Given the description of an element on the screen output the (x, y) to click on. 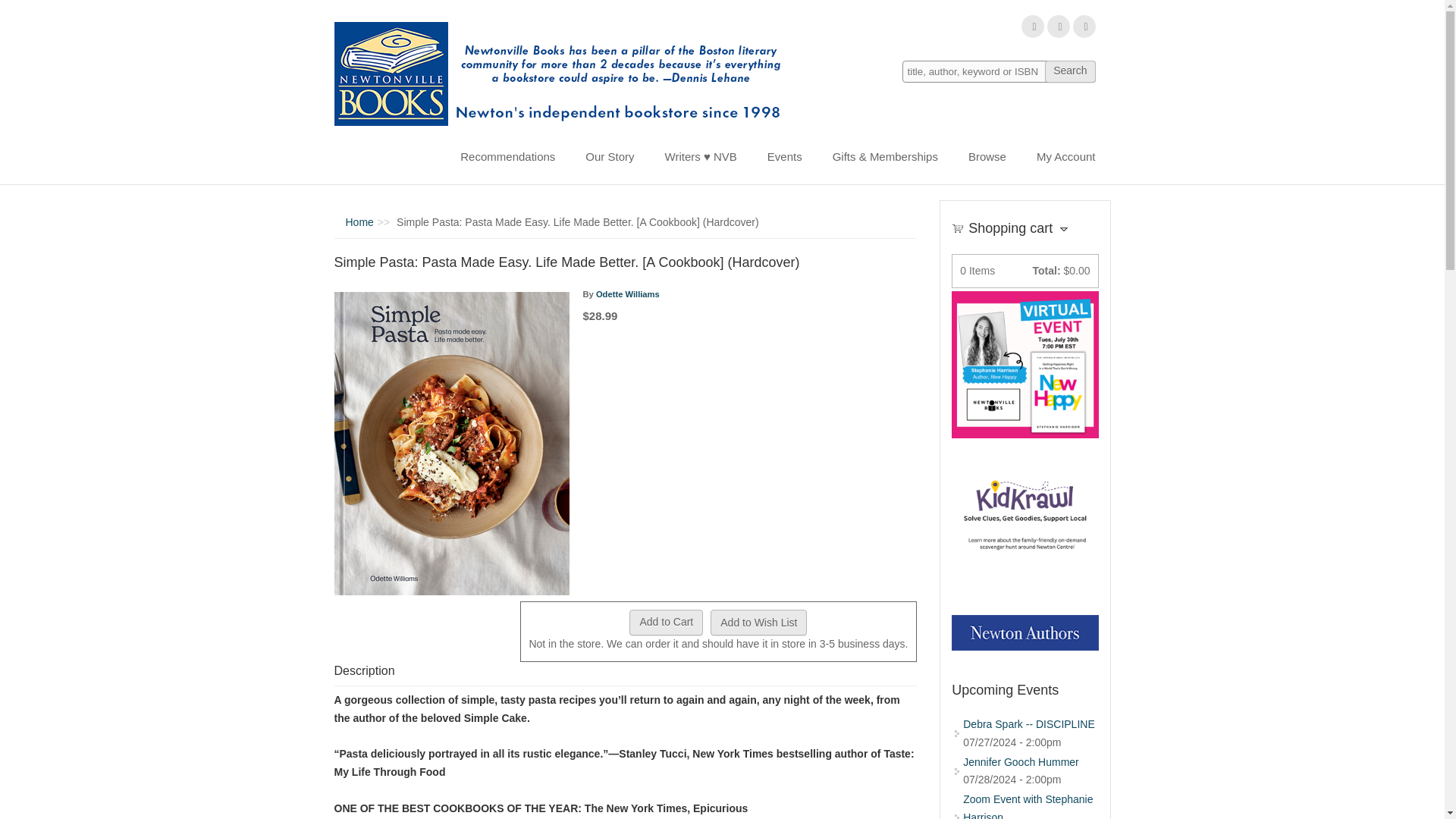
Home (360, 222)
Our Story (609, 156)
Recommendations (507, 156)
Add to Cart (665, 622)
Search (1069, 71)
Add to Cart (665, 622)
Events (784, 156)
Enter the terms you wish to search for. (999, 71)
My Account (1066, 156)
View your shopping cart. (957, 227)
Home (562, 74)
Browse (987, 156)
Add to Wish List (758, 622)
Odette Williams (627, 293)
